Given the description of an element on the screen output the (x, y) to click on. 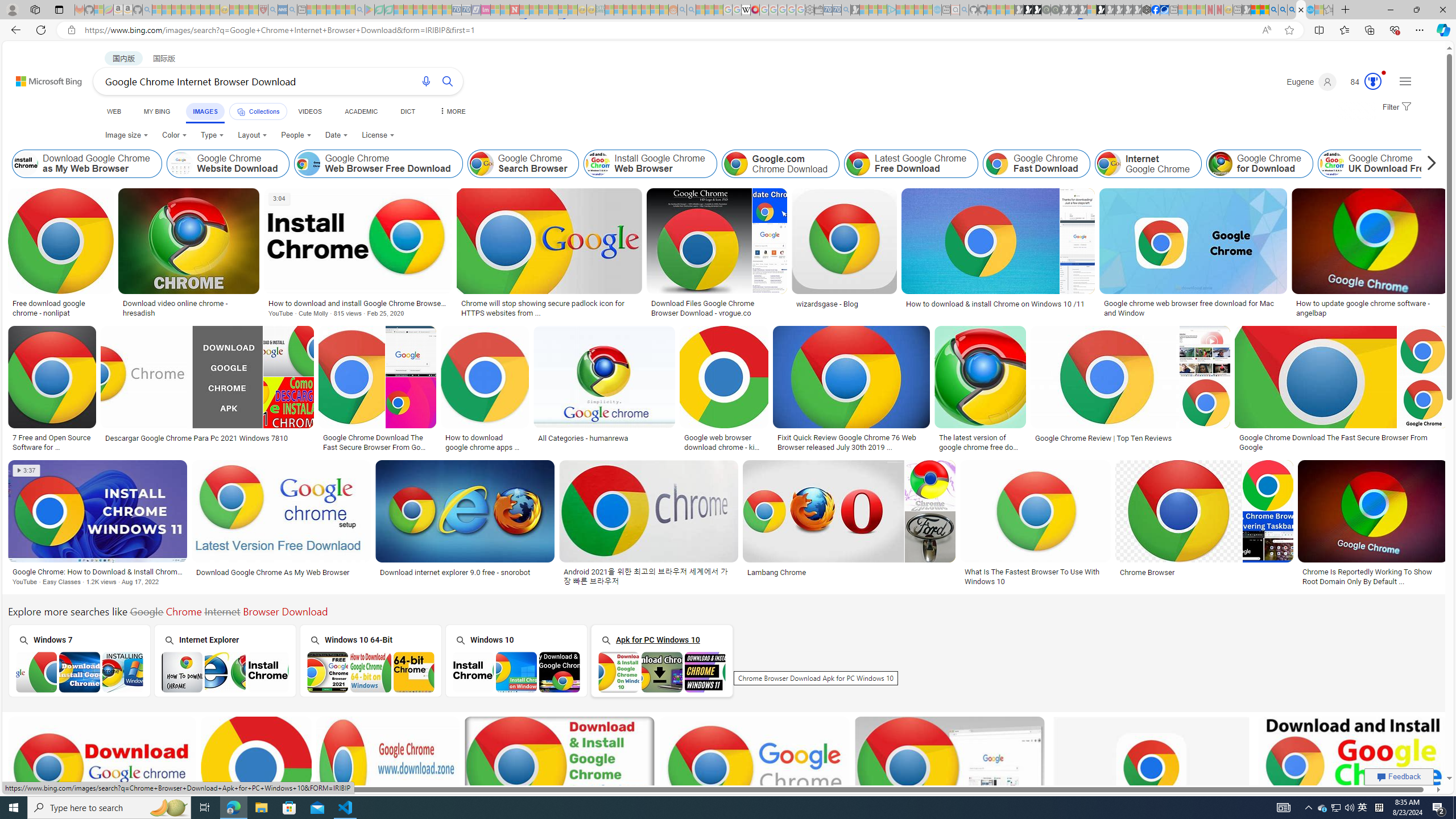
Settings - Sleeping (809, 9)
Google Chrome Fast Download (997, 163)
ACADEMIC (360, 111)
Google Chrome Website Download (180, 163)
google - Search - Sleeping (359, 9)
Google chrome web browser free download for Mac and Window (1192, 307)
AirNow.gov (1163, 9)
How to download google chrome apps - snoml (484, 441)
Chrome Browser Download Windows 10 64-Bit (370, 671)
How to download & install Chrome on Windows 10 /11Save (1000, 254)
